Given the description of an element on the screen output the (x, y) to click on. 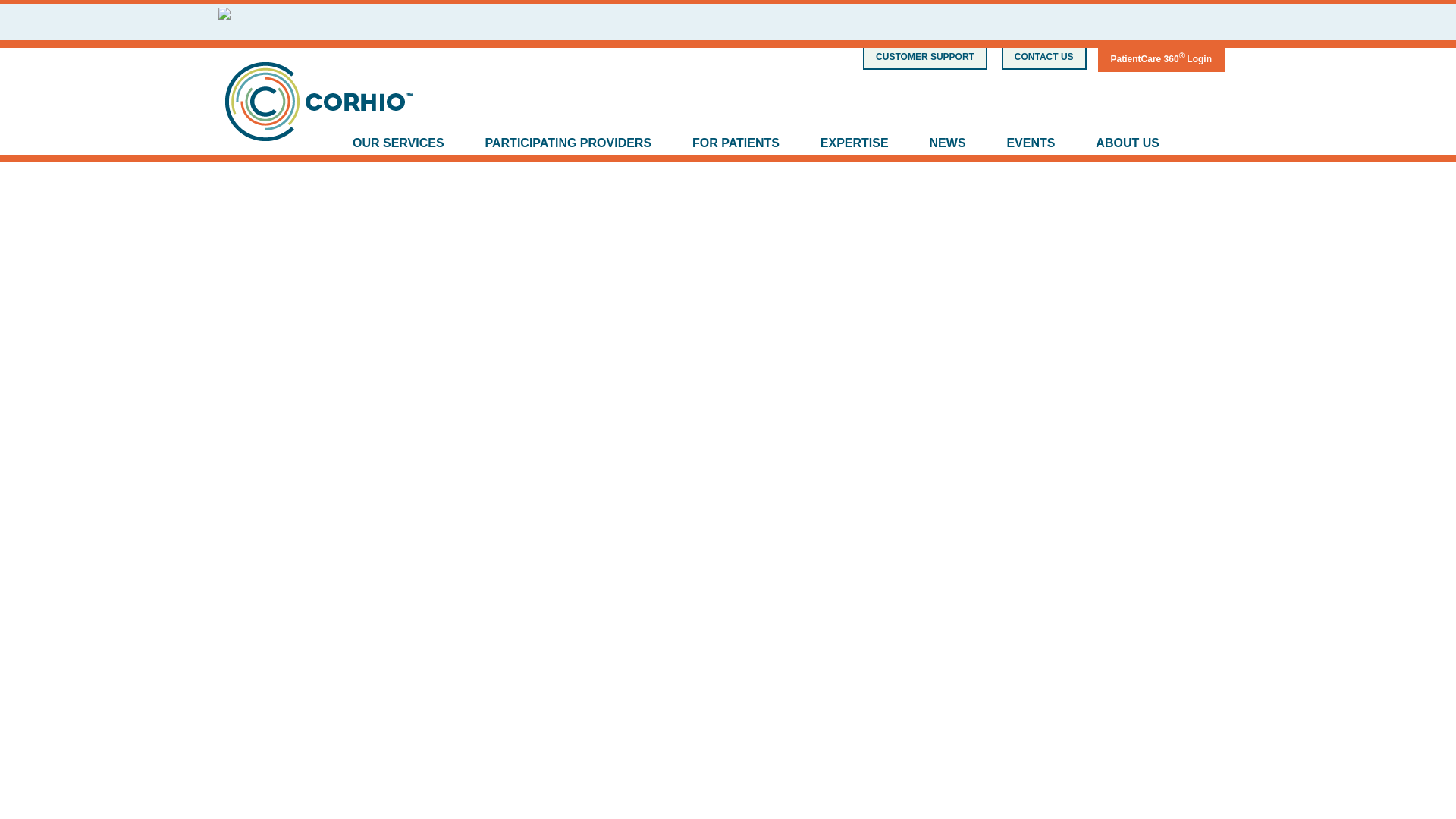
CUSTOMER SUPPORT (925, 56)
CONTACT US (1044, 56)
contact Corhio (1044, 56)
Corhio Support (925, 56)
OUR SERVICES (398, 144)
PatientCare 360 (1161, 56)
Corhio (319, 110)
